Given the description of an element on the screen output the (x, y) to click on. 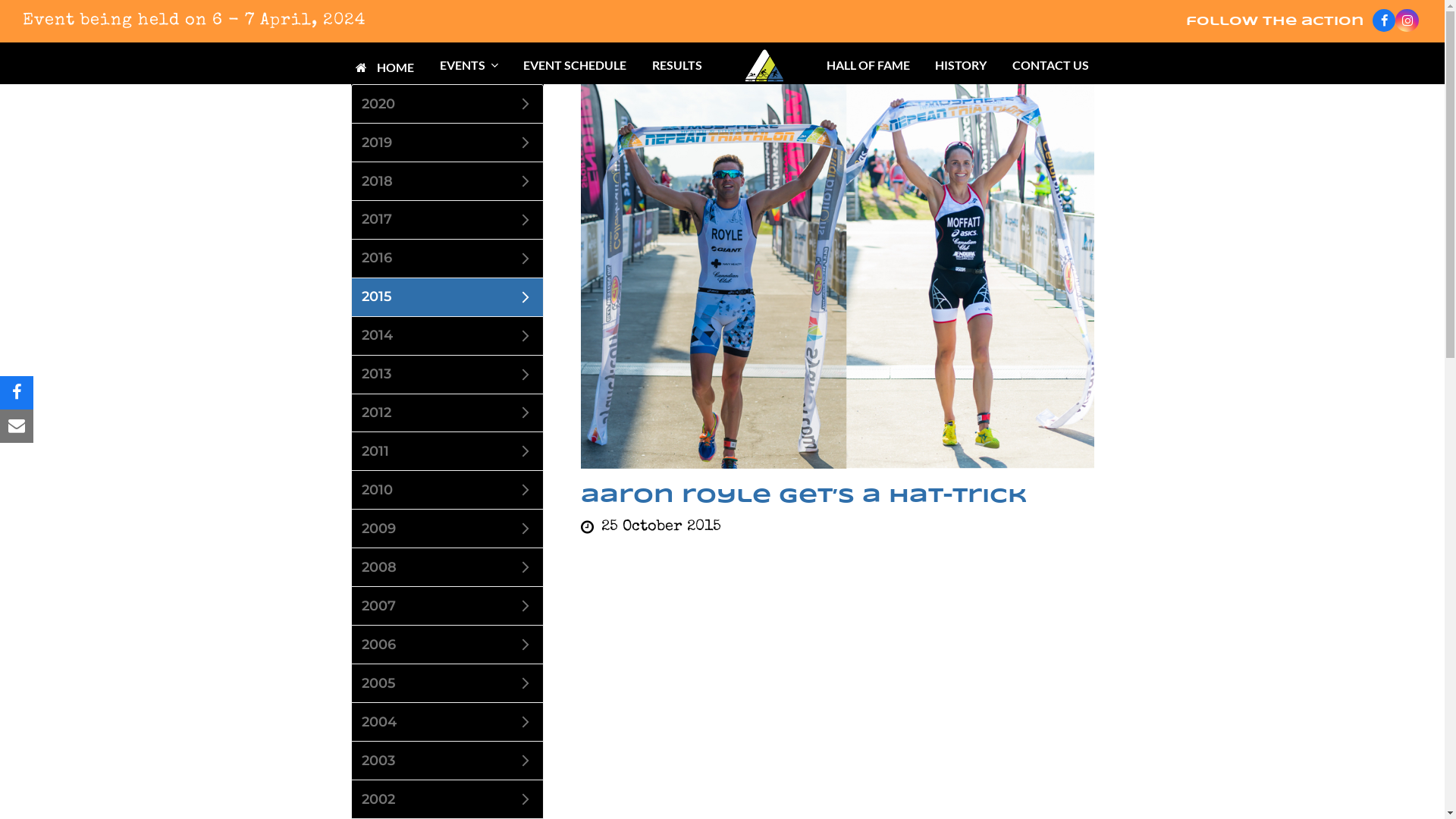
2011 Element type: text (447, 451)
2010 Element type: text (447, 489)
2016 Element type: text (447, 258)
2002 Element type: text (447, 799)
2003 Element type: text (447, 760)
2015 Element type: text (447, 297)
2018 Element type: text (447, 181)
Instagram Element type: text (1406, 20)
HISTORY Element type: text (960, 65)
2020 Element type: text (447, 103)
HALL OF FAME Element type: text (867, 65)
2012 Element type: text (447, 413)
Share via Email Element type: text (16, 425)
2008 Element type: text (447, 567)
2007 Element type: text (447, 605)
Facebook Element type: text (1384, 20)
2014 Element type: text (447, 335)
2009 Element type: text (447, 528)
2004 Element type: text (447, 721)
CONTACT US Element type: text (1050, 65)
2005 Element type: text (447, 683)
2006 Element type: text (447, 644)
Share on Facebook Element type: text (16, 392)
HOME Element type: text (384, 65)
EVENTS Element type: text (468, 65)
2019 Element type: text (447, 142)
2017 Element type: text (447, 219)
RESULTS Element type: text (677, 65)
EVENT SCHEDULE Element type: text (575, 65)
2013 Element type: text (447, 374)
